Given the description of an element on the screen output the (x, y) to click on. 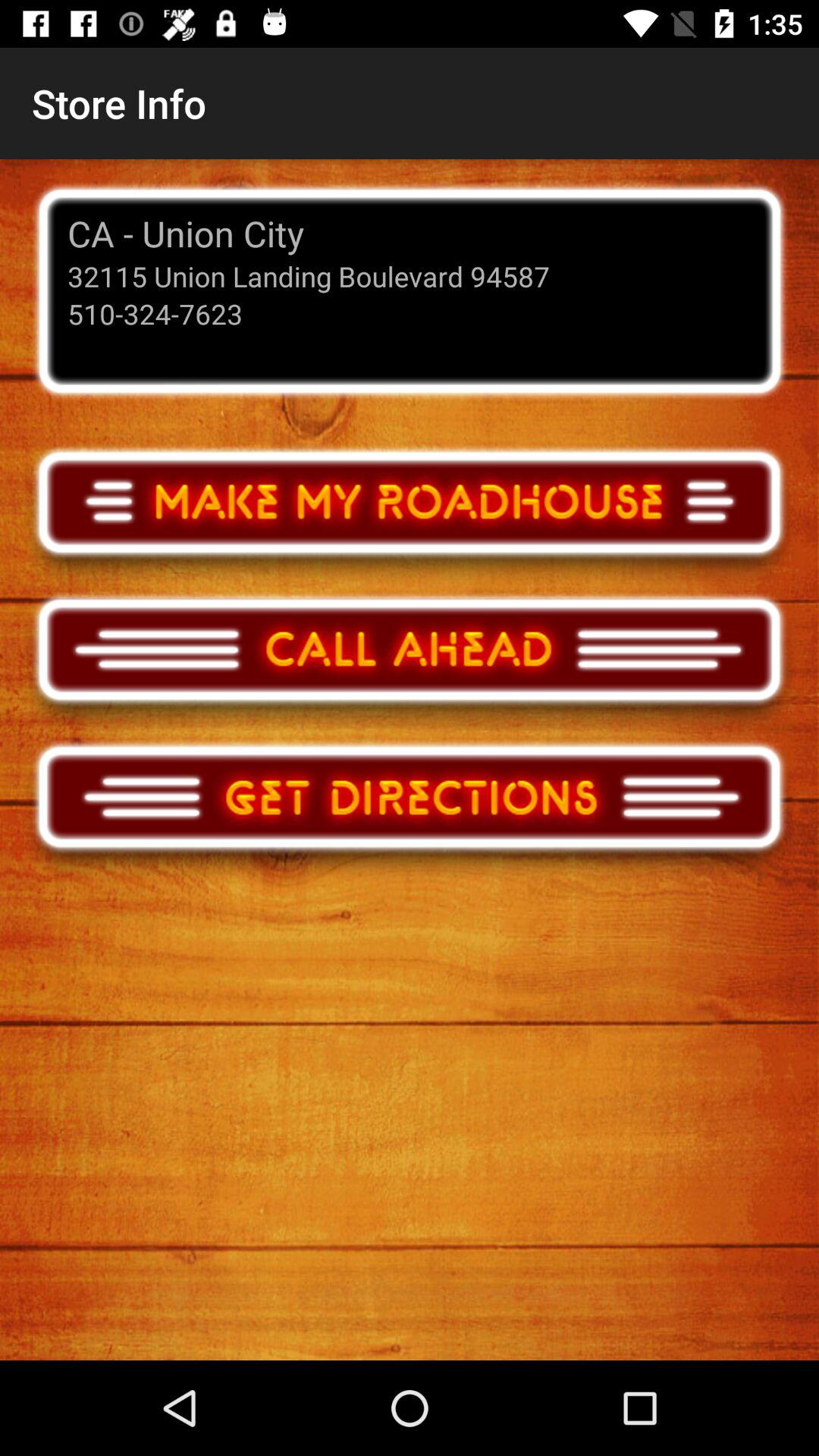
select option (409, 516)
